Given the description of an element on the screen output the (x, y) to click on. 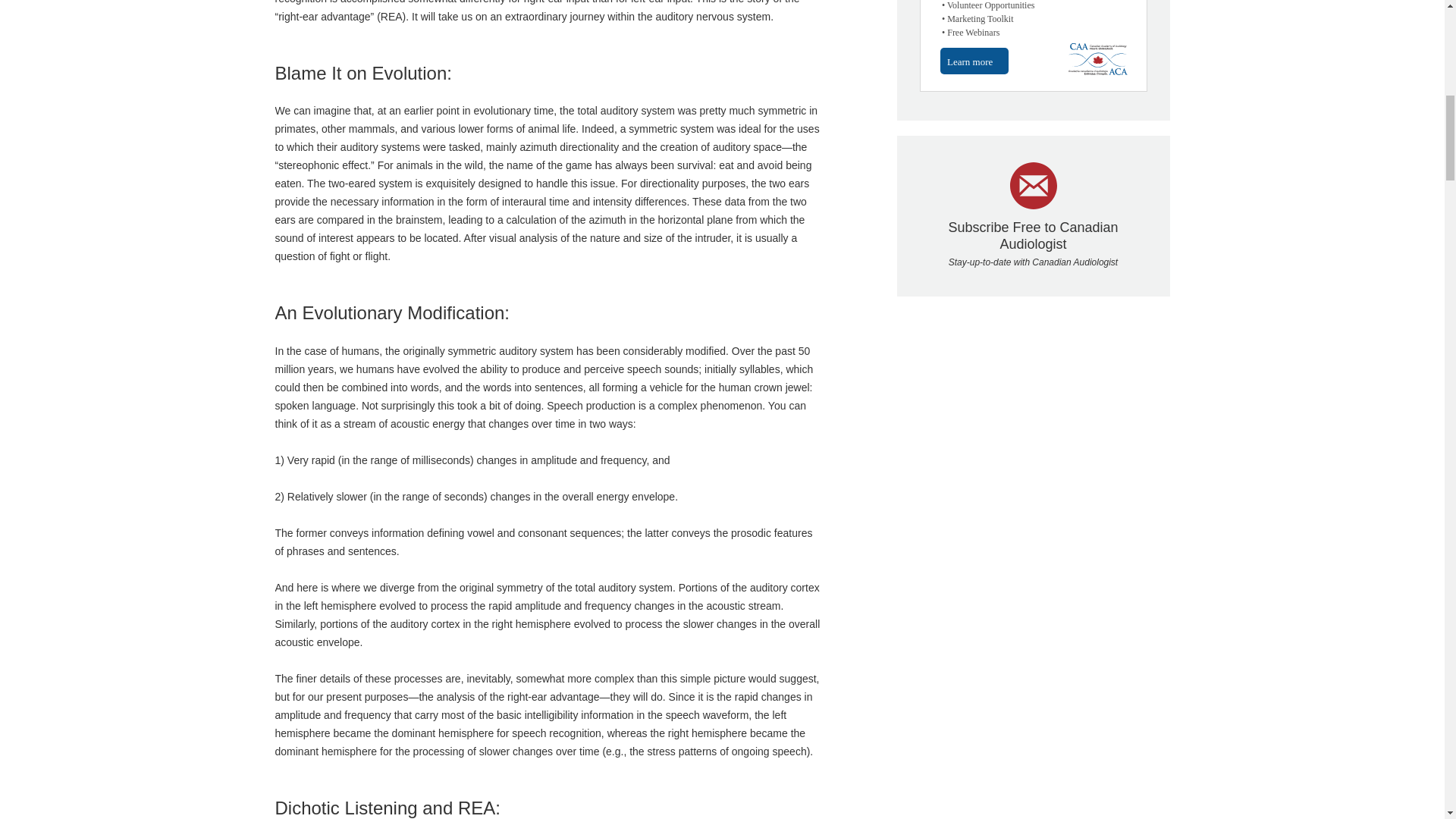
3rd party ad content (1032, 45)
